Given the description of an element on the screen output the (x, y) to click on. 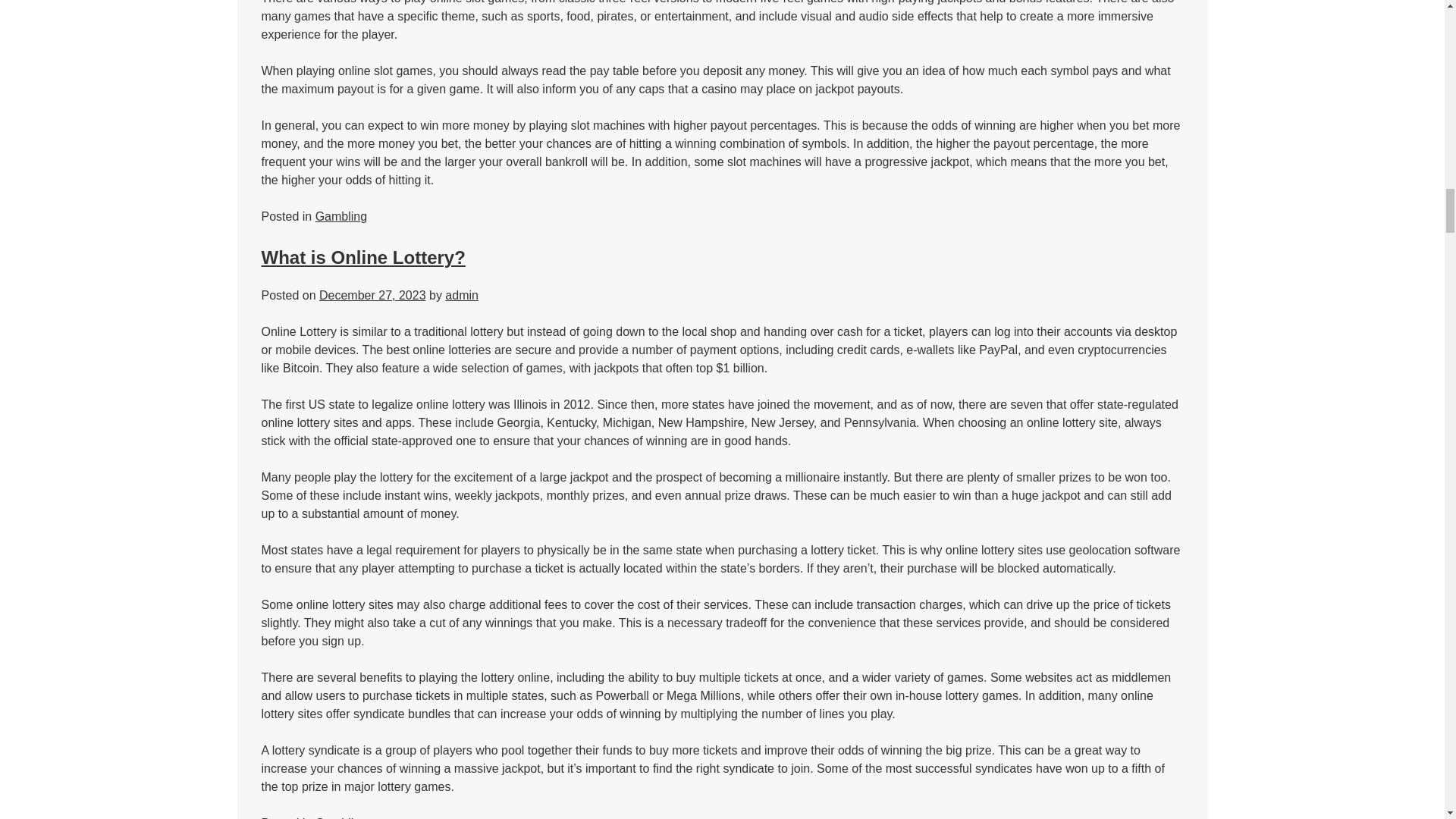
December 27, 2023 (372, 295)
admin (462, 295)
What is Online Lottery? (362, 257)
Gambling (340, 215)
Gambling (340, 817)
